Given the description of an element on the screen output the (x, y) to click on. 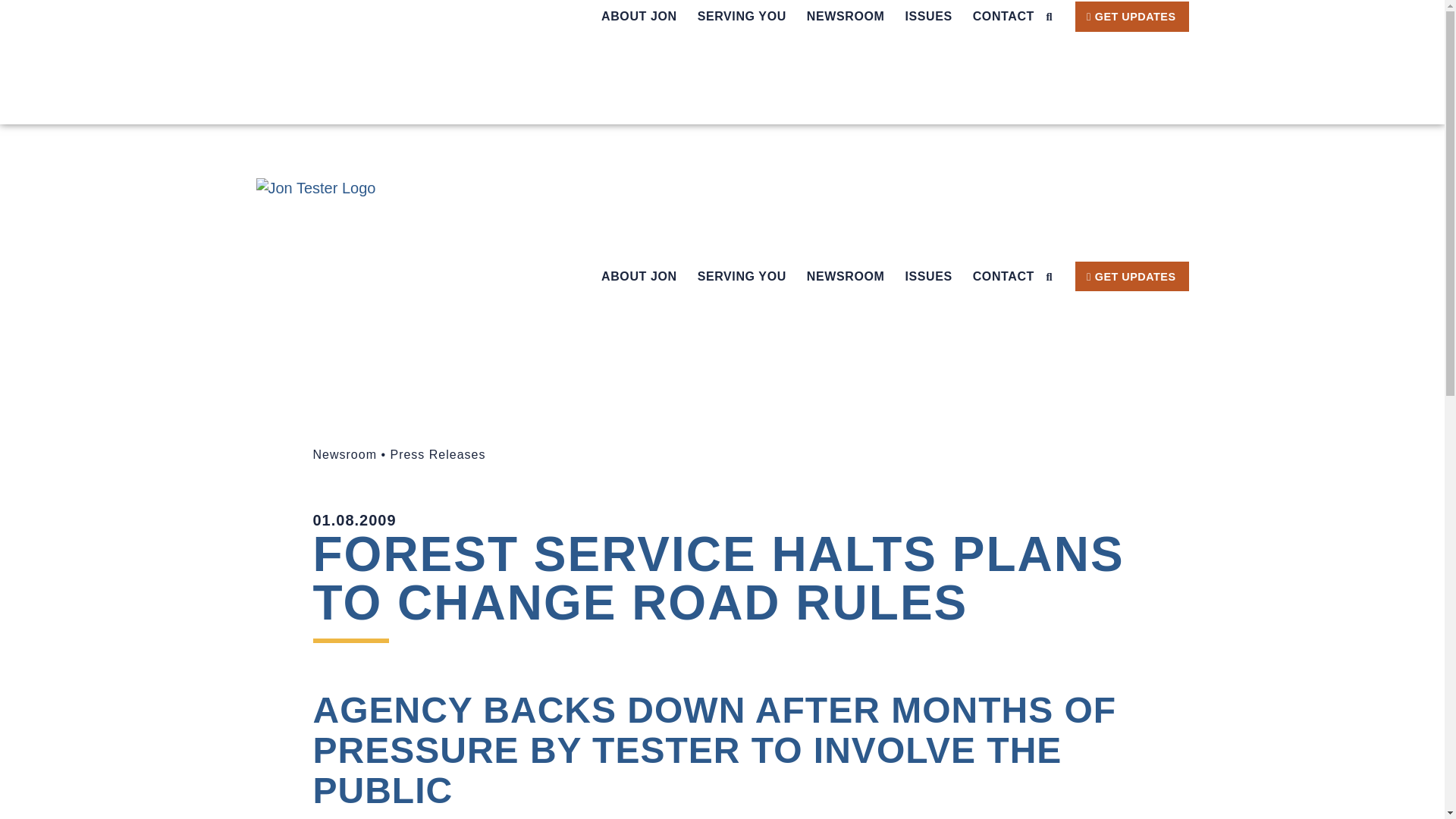
CONTACT (1002, 16)
ISSUES (928, 16)
SERVING YOU (741, 16)
NEWSROOM (845, 16)
ABOUT JON (639, 16)
